Given the description of an element on the screen output the (x, y) to click on. 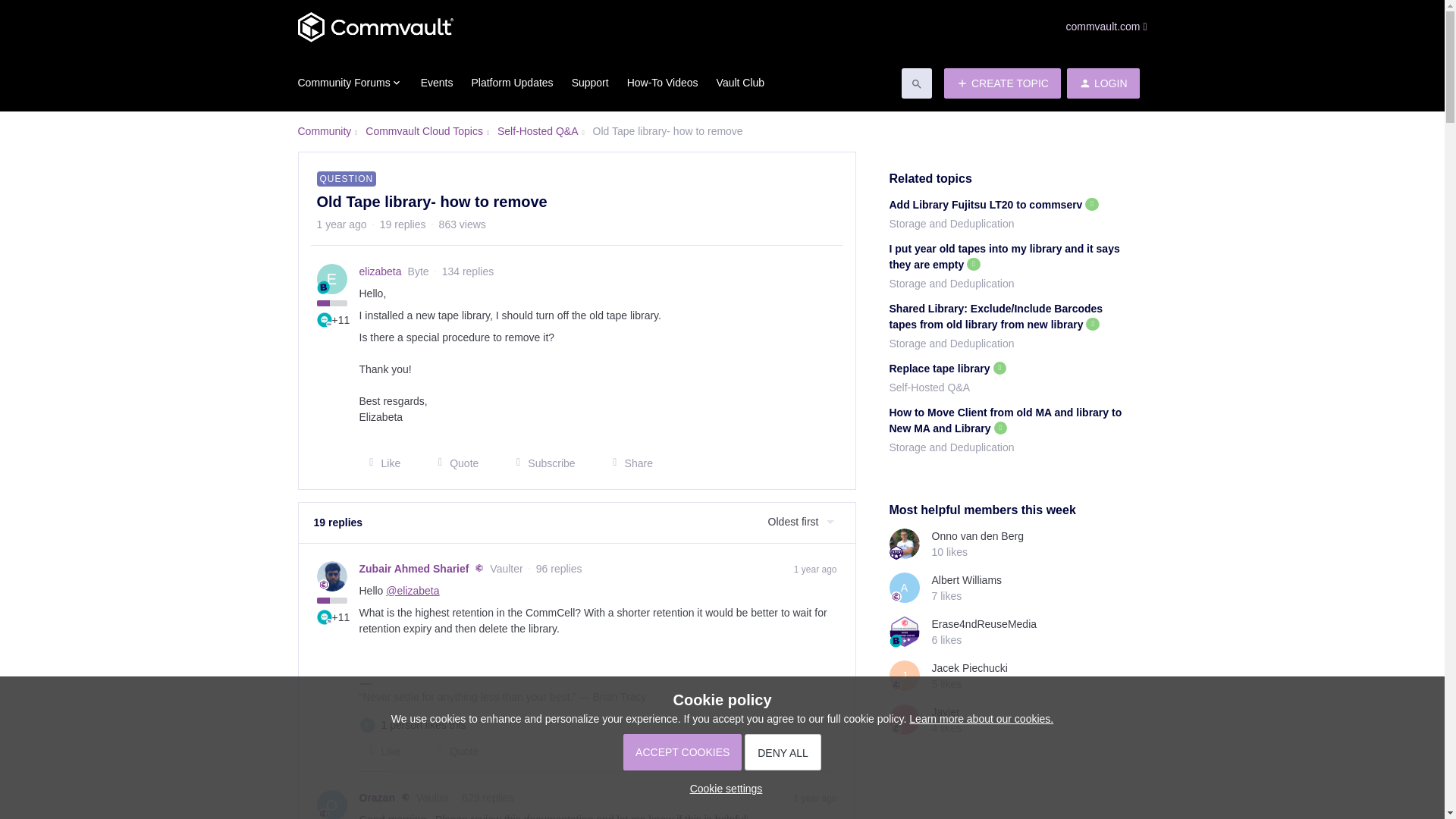
19 replies (403, 224)
Platform Updates (511, 82)
E (332, 278)
LOGIN (1103, 82)
How-To Videos (662, 82)
Contributor 100 (324, 319)
commvault.com (1106, 26)
CREATE TOPIC (1002, 82)
Support (590, 82)
Events (436, 82)
Commvault Cloud Topics (424, 131)
elizabeta (380, 271)
Community Forums (349, 82)
Byte (323, 287)
Community (323, 131)
